Given the description of an element on the screen output the (x, y) to click on. 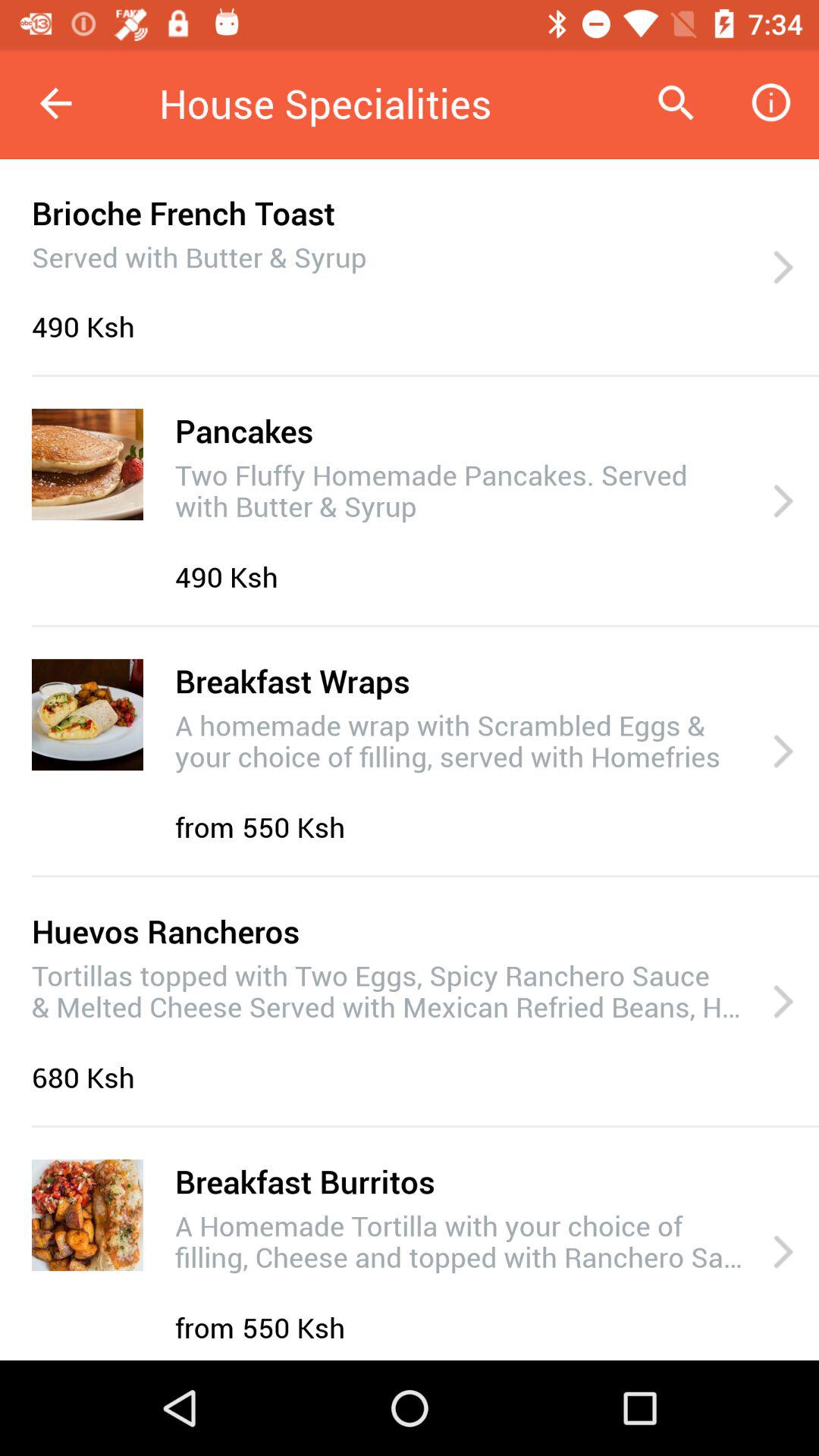
turn off breakfast wraps (292, 680)
